Given the description of an element on the screen output the (x, y) to click on. 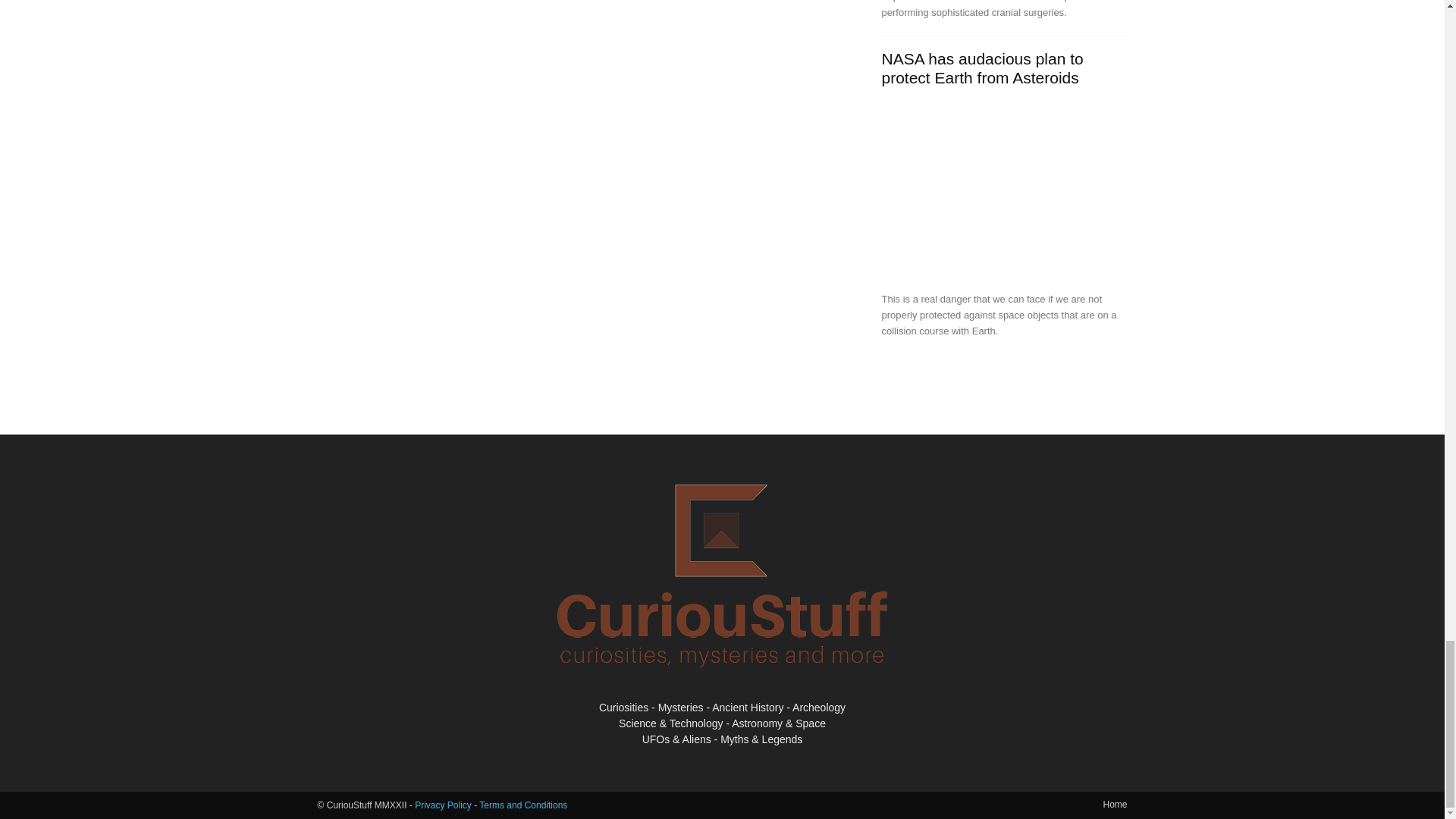
Home (1114, 804)
NASA has audacious plan to protect Earth from Asteroids (981, 67)
Privacy Policy (442, 805)
Terms and Conditions (523, 805)
